Given the description of an element on the screen output the (x, y) to click on. 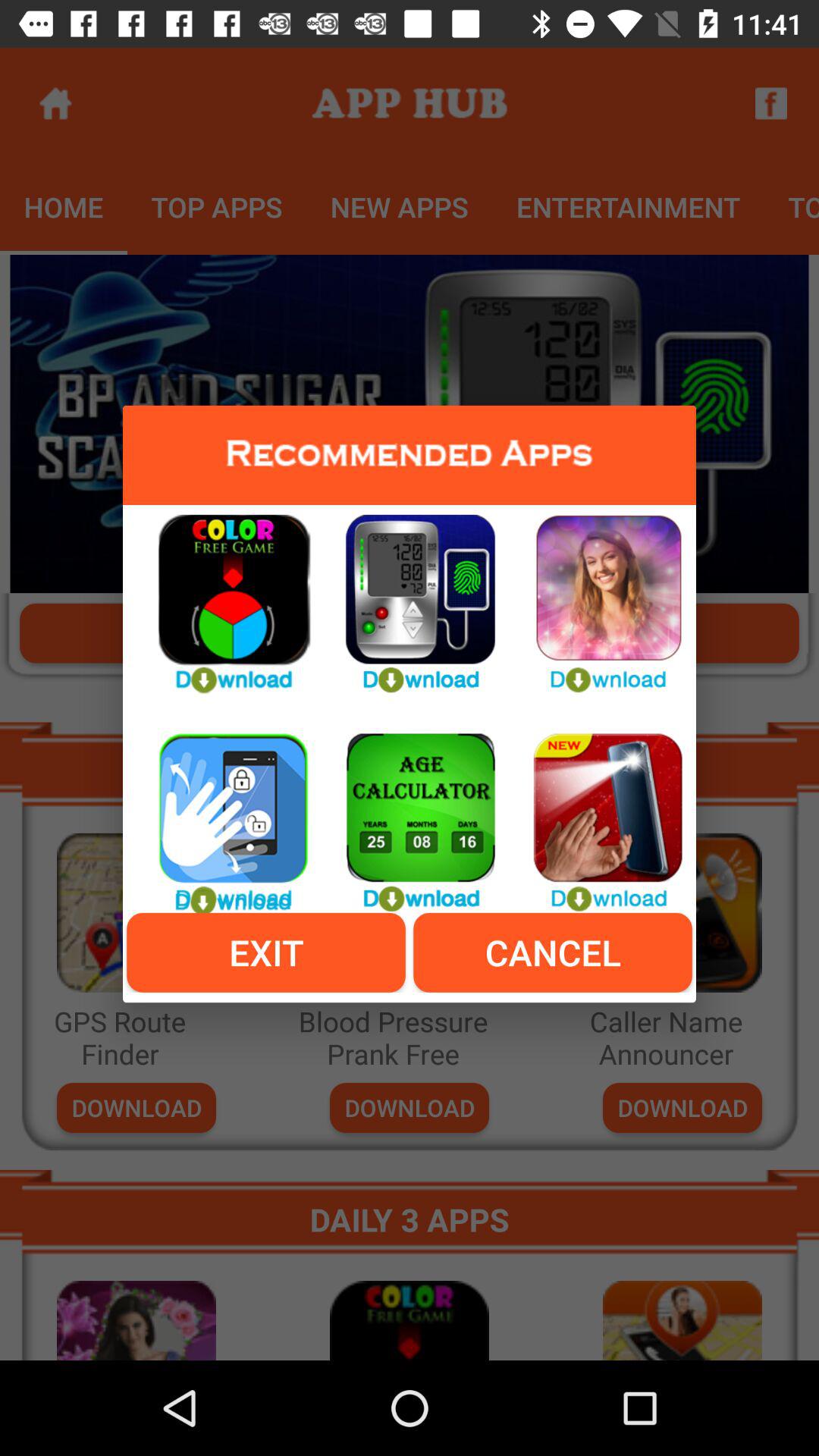
download age calculator (409, 813)
